Given the description of an element on the screen output the (x, y) to click on. 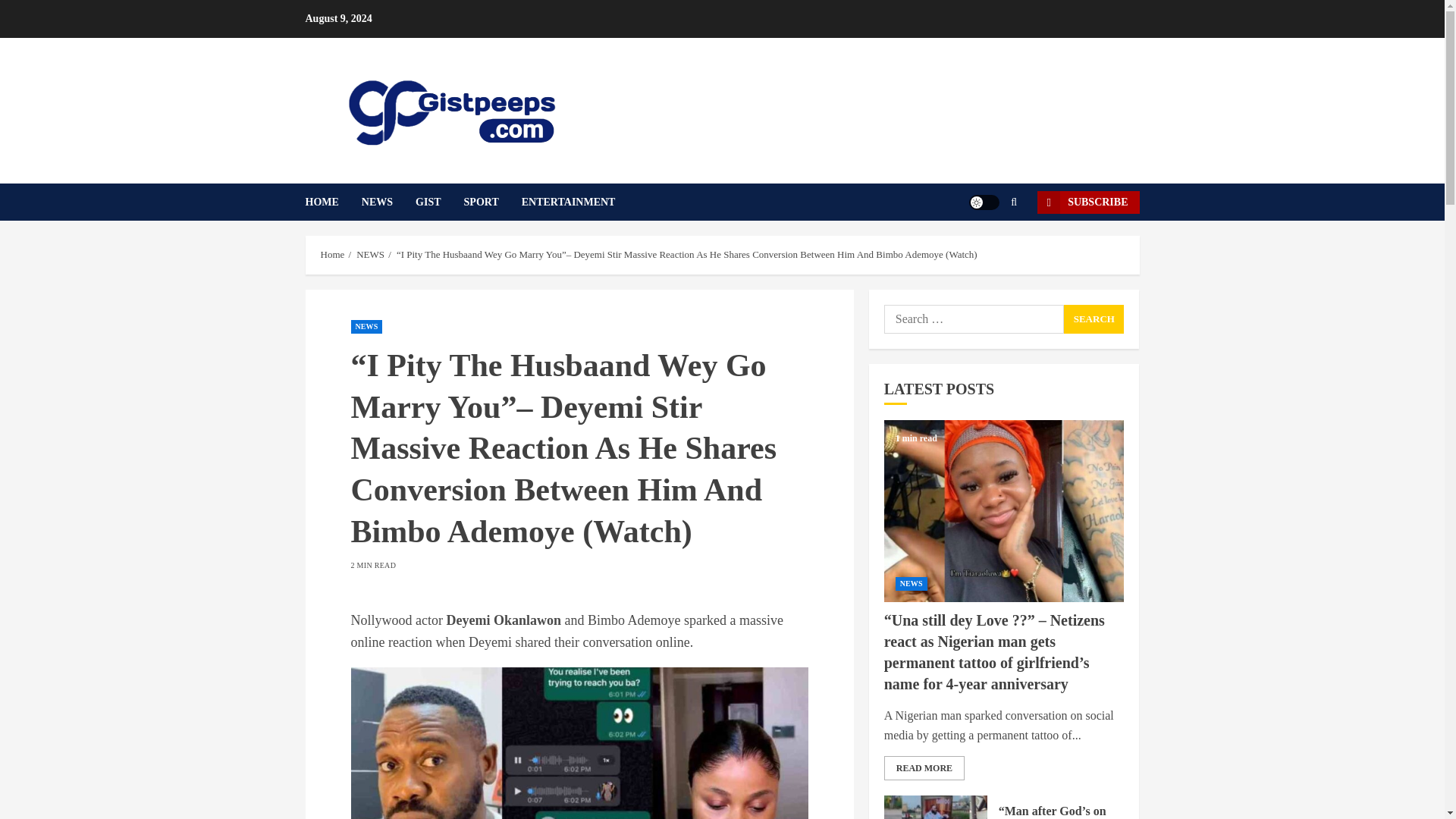
Search (1094, 318)
Search (1094, 318)
ENTERTAINMENT (568, 201)
NEWS (387, 201)
Home (331, 254)
Search (990, 247)
NEWS (911, 583)
READ MORE (923, 767)
SPORT (492, 201)
GIST (438, 201)
